Given the description of an element on the screen output the (x, y) to click on. 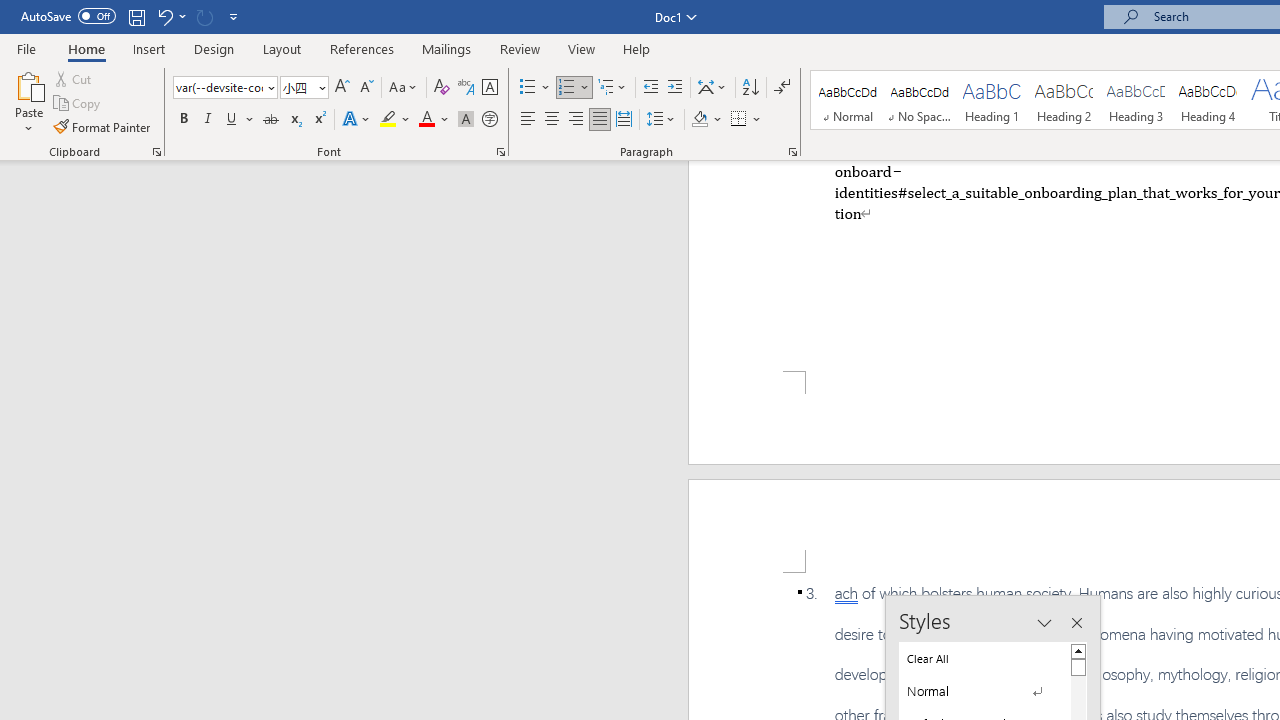
Heading 2 (1063, 100)
Clear Formatting (442, 87)
Undo Apply Quick Style (170, 15)
AutoSave (68, 16)
Text Highlight Color Yellow (388, 119)
Paste (28, 84)
Align Right (575, 119)
Sort... (750, 87)
System (10, 11)
File Tab (26, 48)
Font (224, 87)
Decrease Indent (650, 87)
Phonetic Guide... (465, 87)
Help (637, 48)
Line and Paragraph Spacing (661, 119)
